Given the description of an element on the screen output the (x, y) to click on. 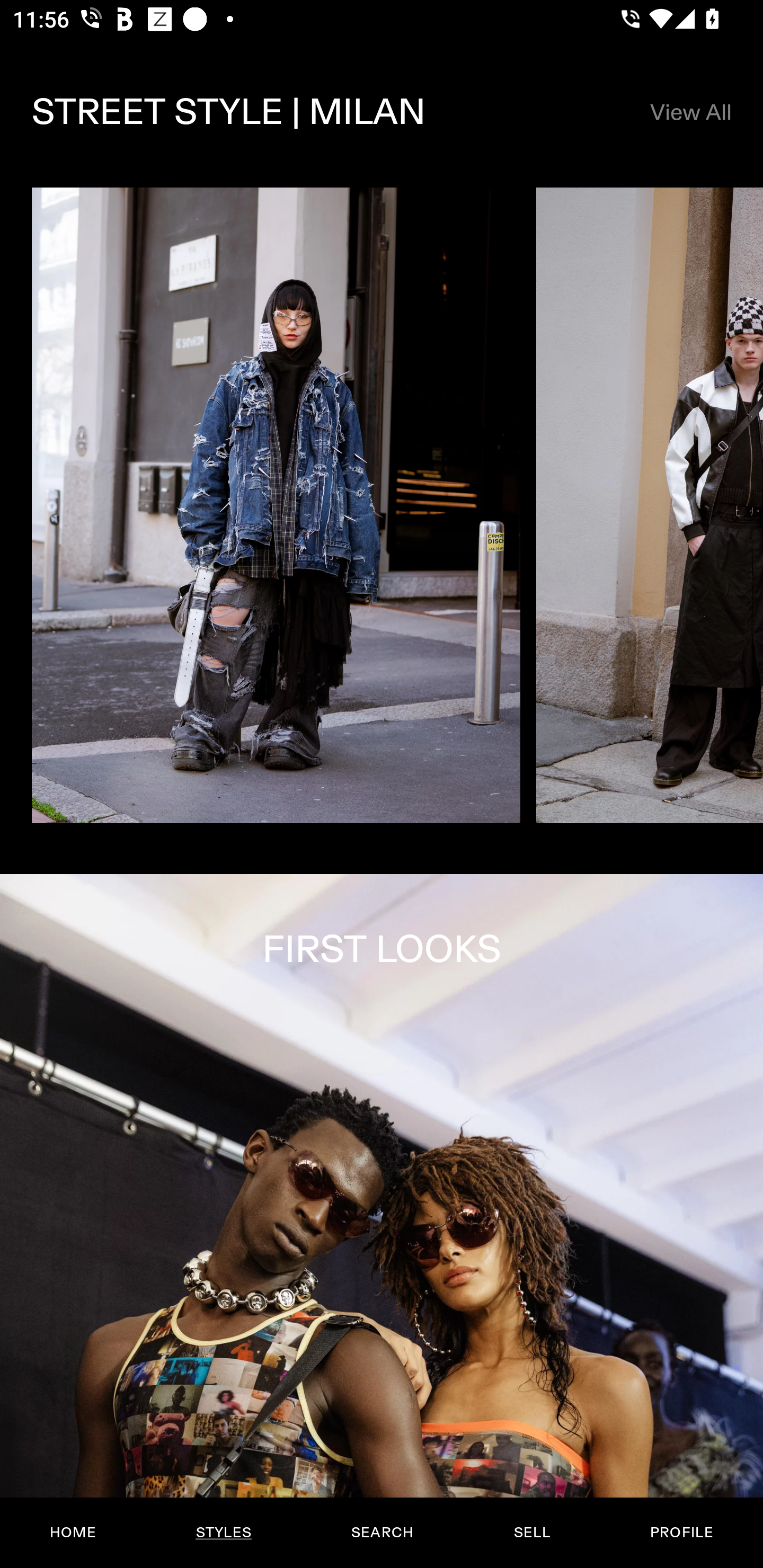
View All (690, 112)
FIRST LOOKS DIESEL FALL '24 (381, 1220)
HOME (72, 1532)
STYLES (222, 1532)
SEARCH (381, 1532)
SELL (531, 1532)
PROFILE (681, 1532)
